Given the description of an element on the screen output the (x, y) to click on. 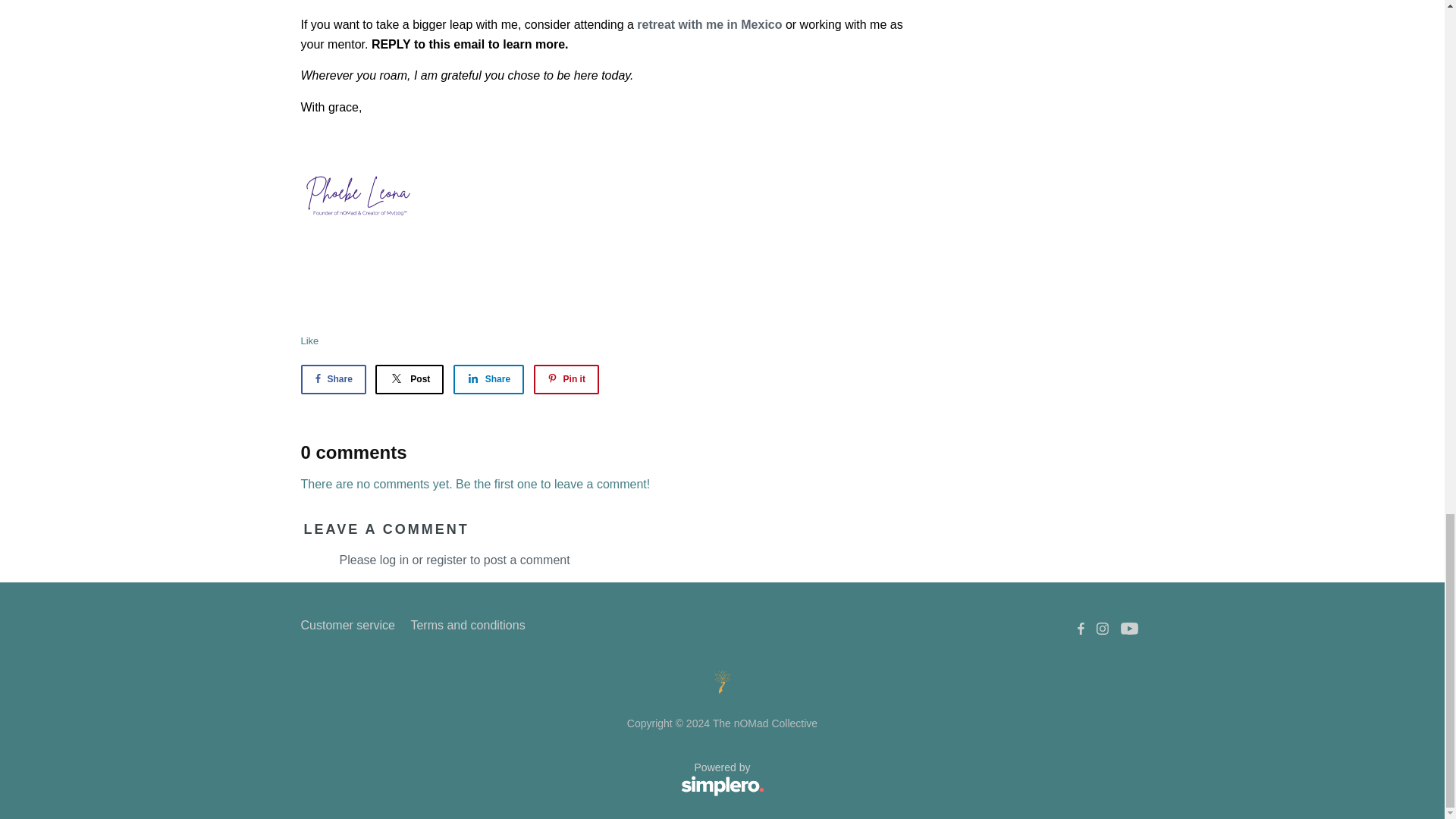
Share (488, 378)
Terms and conditions (467, 625)
Like (308, 340)
Instagram (1102, 627)
YouTube (1129, 627)
Pin on Pinterest (566, 378)
Pin it (566, 378)
Share on Facebook (332, 378)
retreat with me in Mexico (709, 24)
Customer service (346, 625)
